Given the description of an element on the screen output the (x, y) to click on. 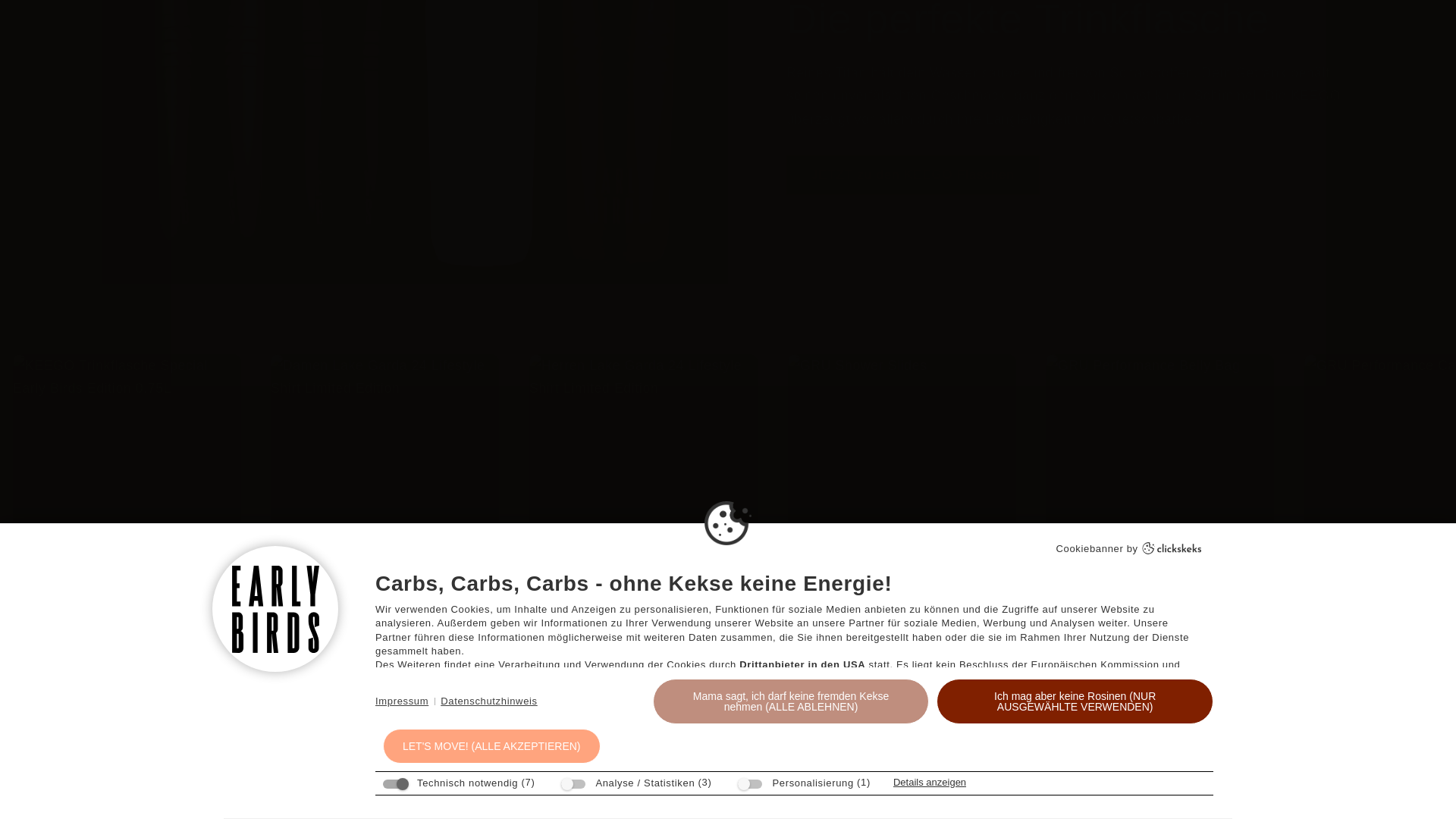
Details anzeigen (929, 529)
Clickskeks Logo (1171, 298)
Clickskeks Logo (1171, 296)
Datenschutzhinweis (489, 449)
Clickskeks (1171, 298)
Impressum (401, 449)
